Given the description of an element on the screen output the (x, y) to click on. 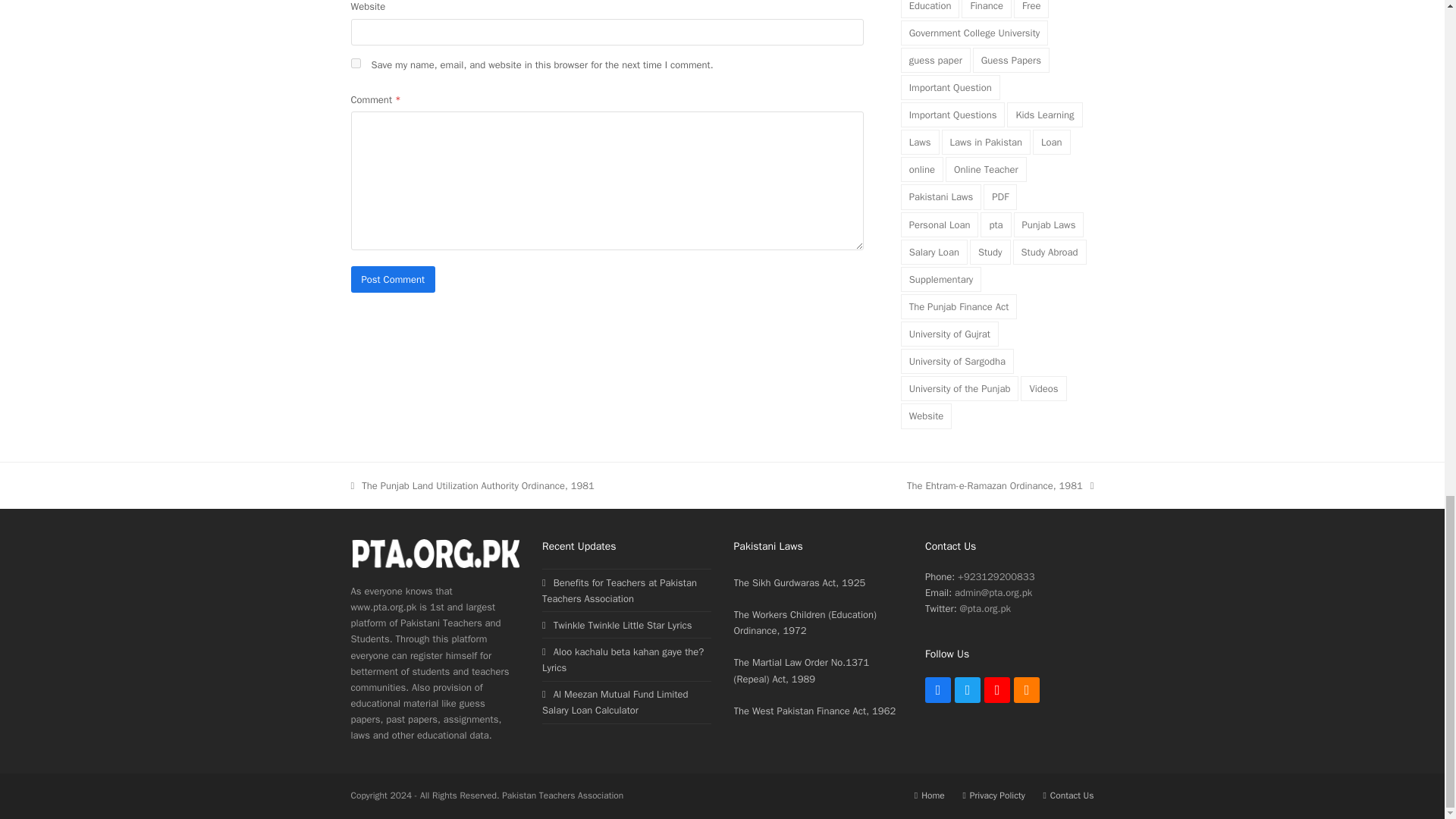
RSS (1026, 689)
Twitter (967, 689)
Facebook (937, 689)
Post Comment (392, 279)
yes (354, 62)
YouTube (997, 689)
